Given the description of an element on the screen output the (x, y) to click on. 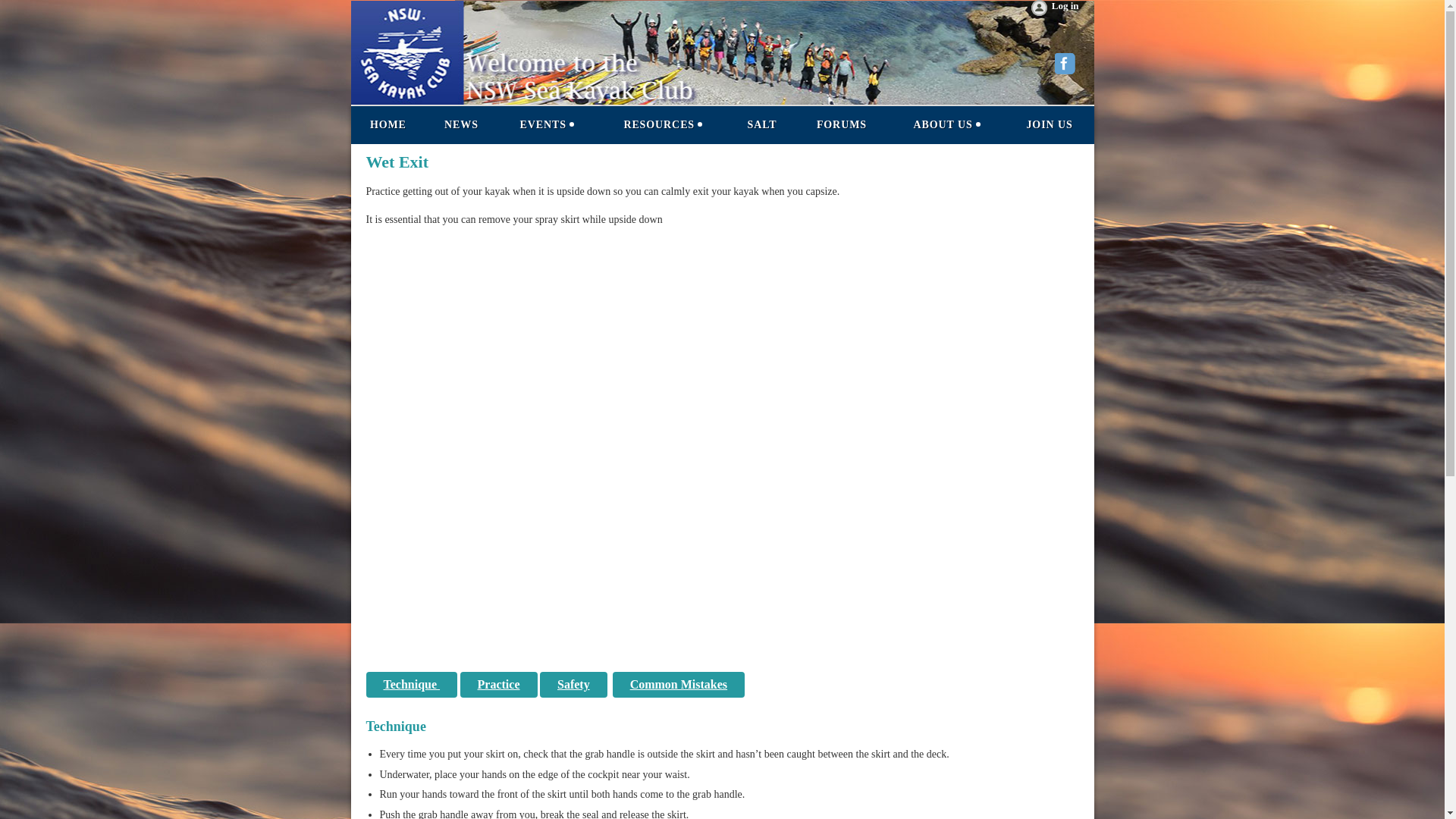
FORUMS (841, 125)
news (460, 125)
ABOUT US (947, 125)
Facebook (1066, 64)
Log in (1053, 9)
JOIN US (1050, 125)
Events (546, 125)
EVENTS (546, 125)
SALT (761, 125)
Home (387, 125)
Technique  (411, 684)
Resources (662, 125)
HOME (387, 125)
NEWS (460, 125)
RESOURCES (662, 125)
